Given the description of an element on the screen output the (x, y) to click on. 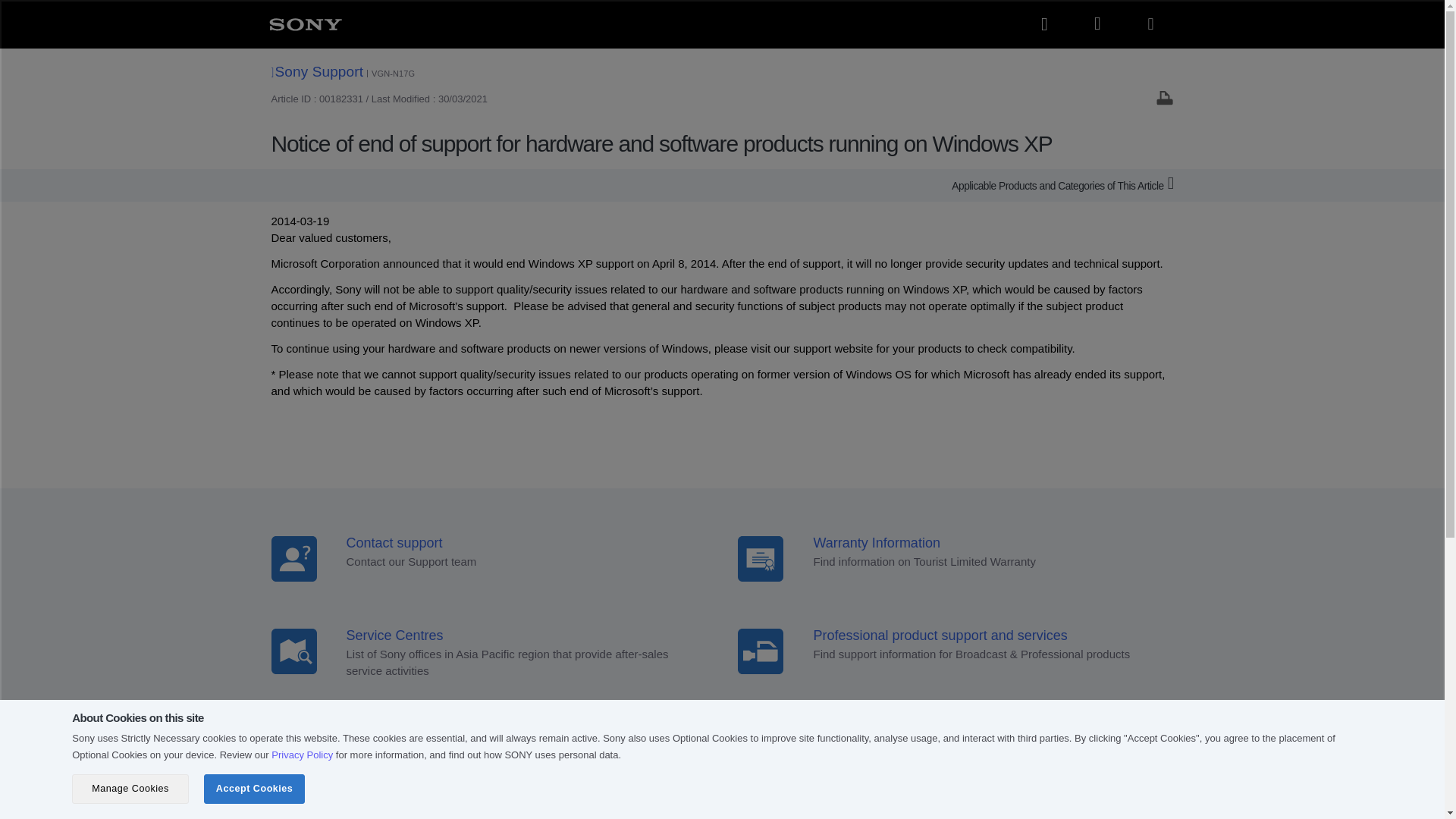
nntnnnttnn (760, 651)
Print (1164, 97)
